Given the description of an element on the screen output the (x, y) to click on. 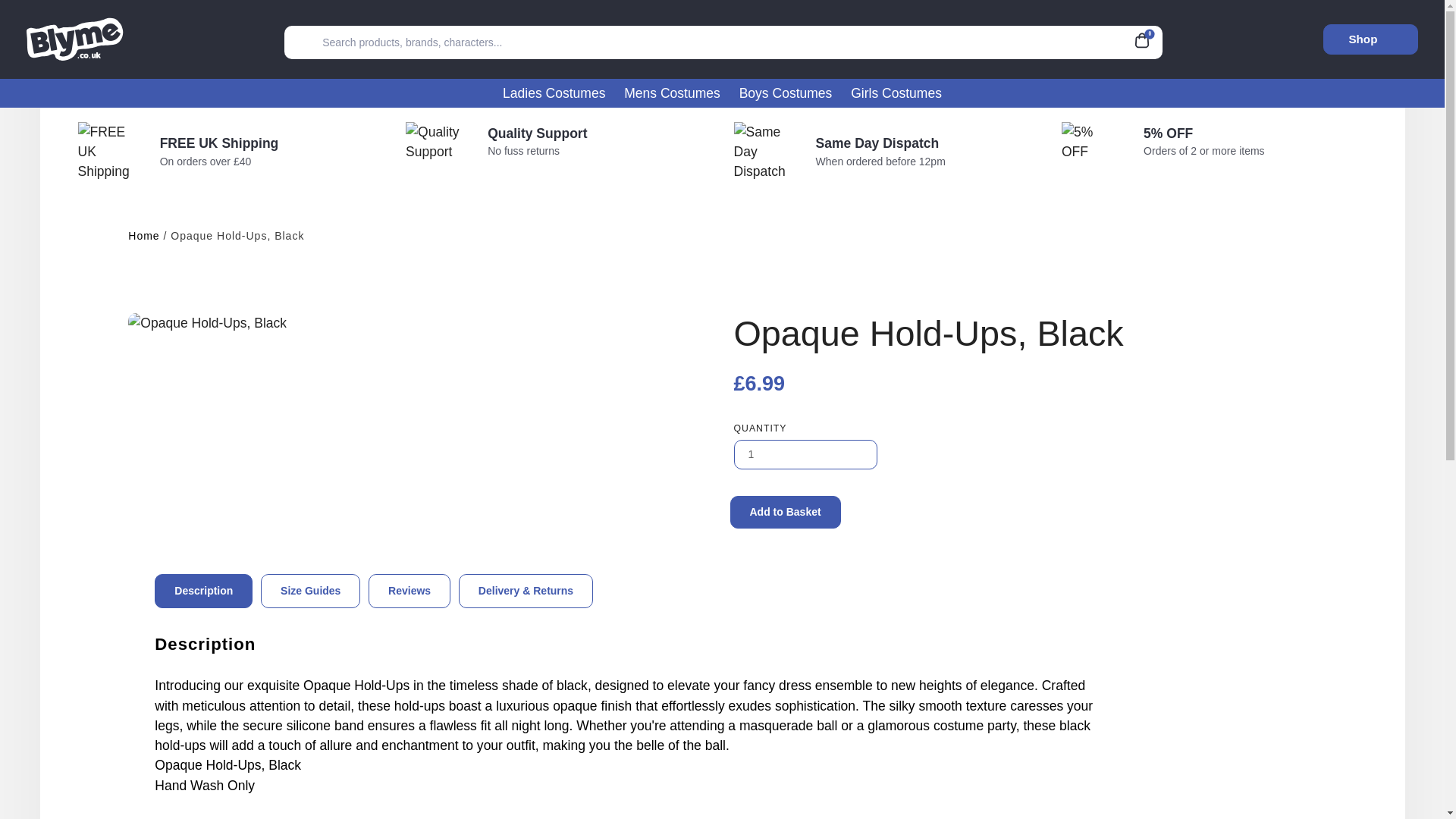
View your Basket (1147, 38)
0 (1147, 38)
0 (1147, 38)
Home (143, 236)
1 (805, 454)
